Given the description of an element on the screen output the (x, y) to click on. 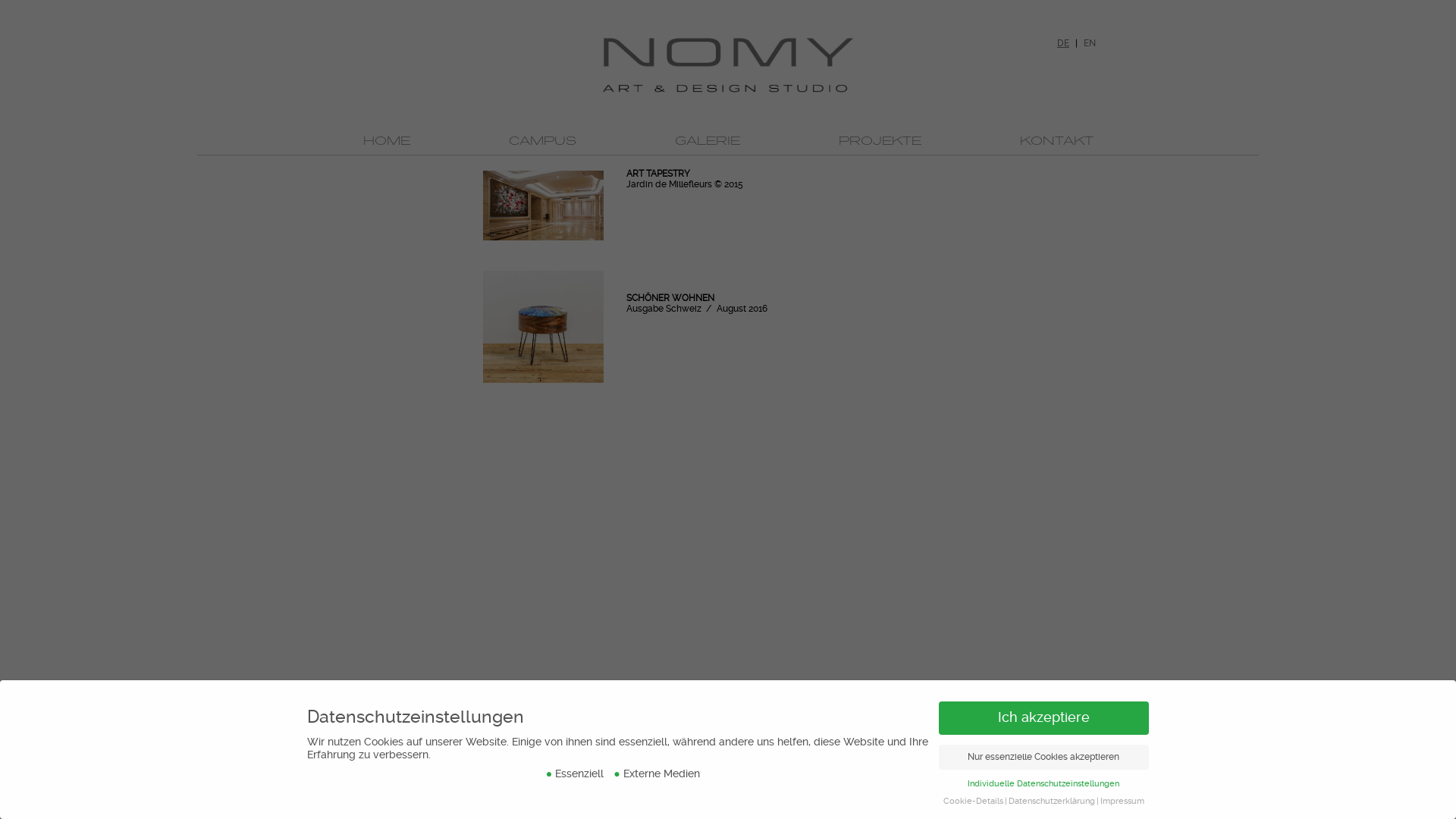
Impressum Element type: text (1122, 801)
HOME Element type: text (385, 139)
CAMPUS Element type: text (541, 139)
DE Element type: text (1063, 42)
Individuelle Datenschutzeinstellungen Element type: text (1043, 783)
KONTAKT Element type: text (1055, 139)
IMPRESSUM Element type: text (390, 804)
Ich akzeptiere Element type: text (1043, 717)
DATENSCHUTZ Element type: text (466, 804)
GALERIE Element type: text (707, 139)
PROJEKTE Element type: text (879, 139)
DOWNLOADS Element type: text (546, 804)
EN Element type: text (1089, 42)
Nur essenzielle Cookies akzeptieren Element type: text (1043, 757)
Cookie-Details Element type: text (973, 801)
